Given the description of an element on the screen output the (x, y) to click on. 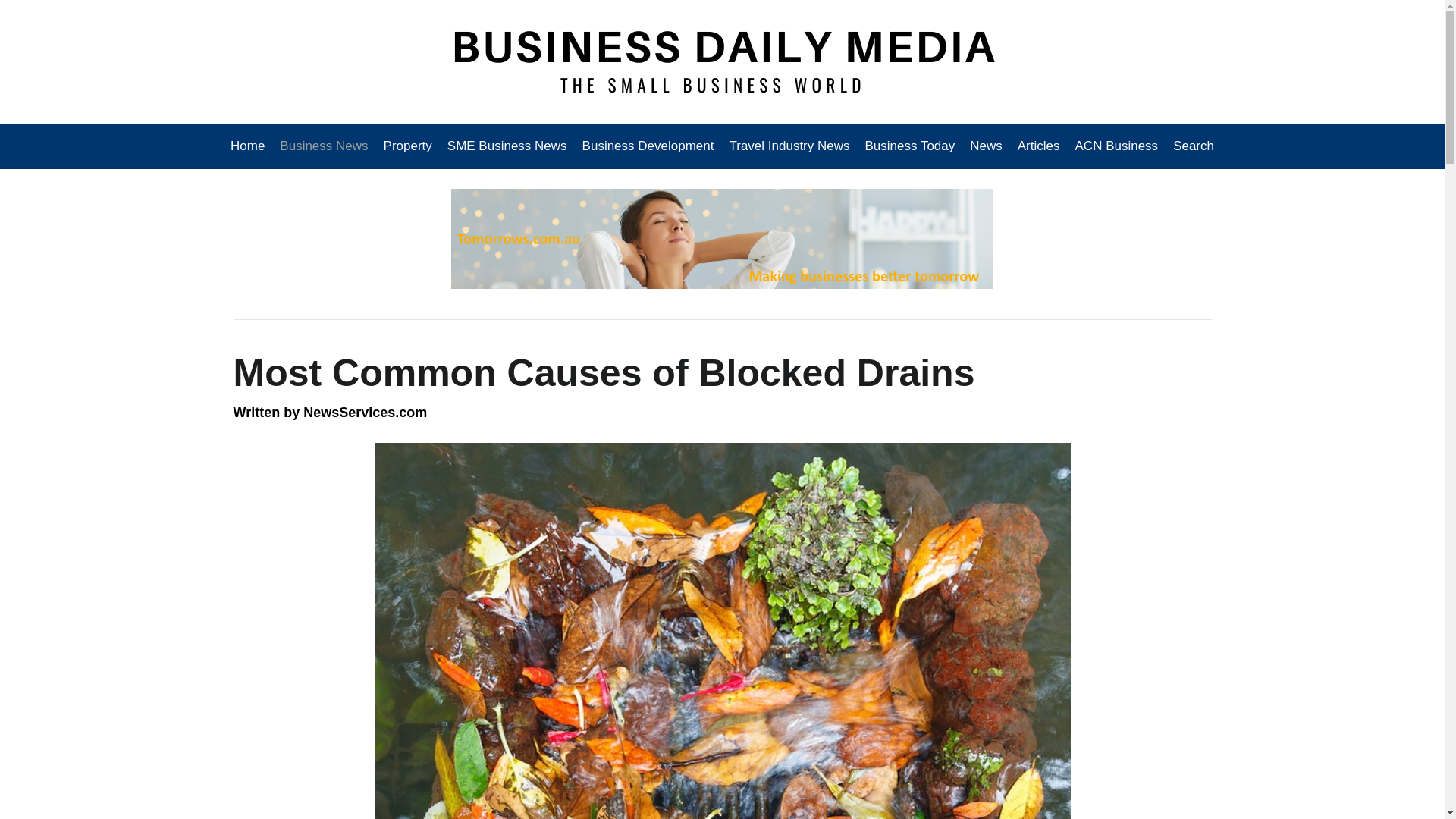
SME Business News (507, 145)
Business Today (909, 145)
Business Development (648, 145)
News (986, 145)
ACN Business (1116, 145)
Travel Industry News (788, 145)
Search (1190, 145)
Business News (323, 145)
Articles (1038, 145)
Property (407, 145)
